Given the description of an element on the screen output the (x, y) to click on. 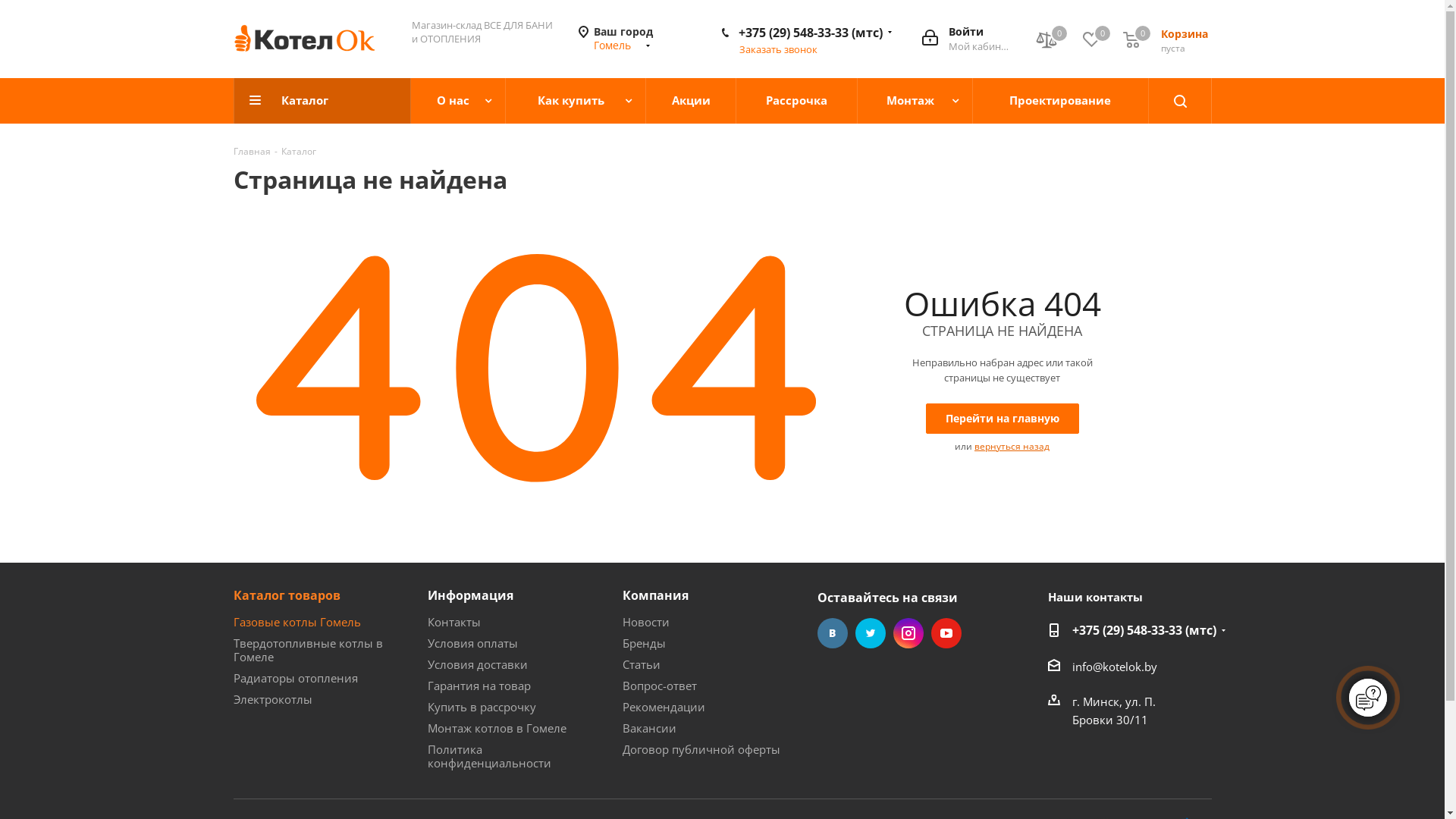
Instagram Element type: text (908, 633)
YouTube Element type: text (946, 633)
Twitter Element type: text (870, 633)
info@kotelok.by Element type: text (1114, 666)
